Given the description of an element on the screen output the (x, y) to click on. 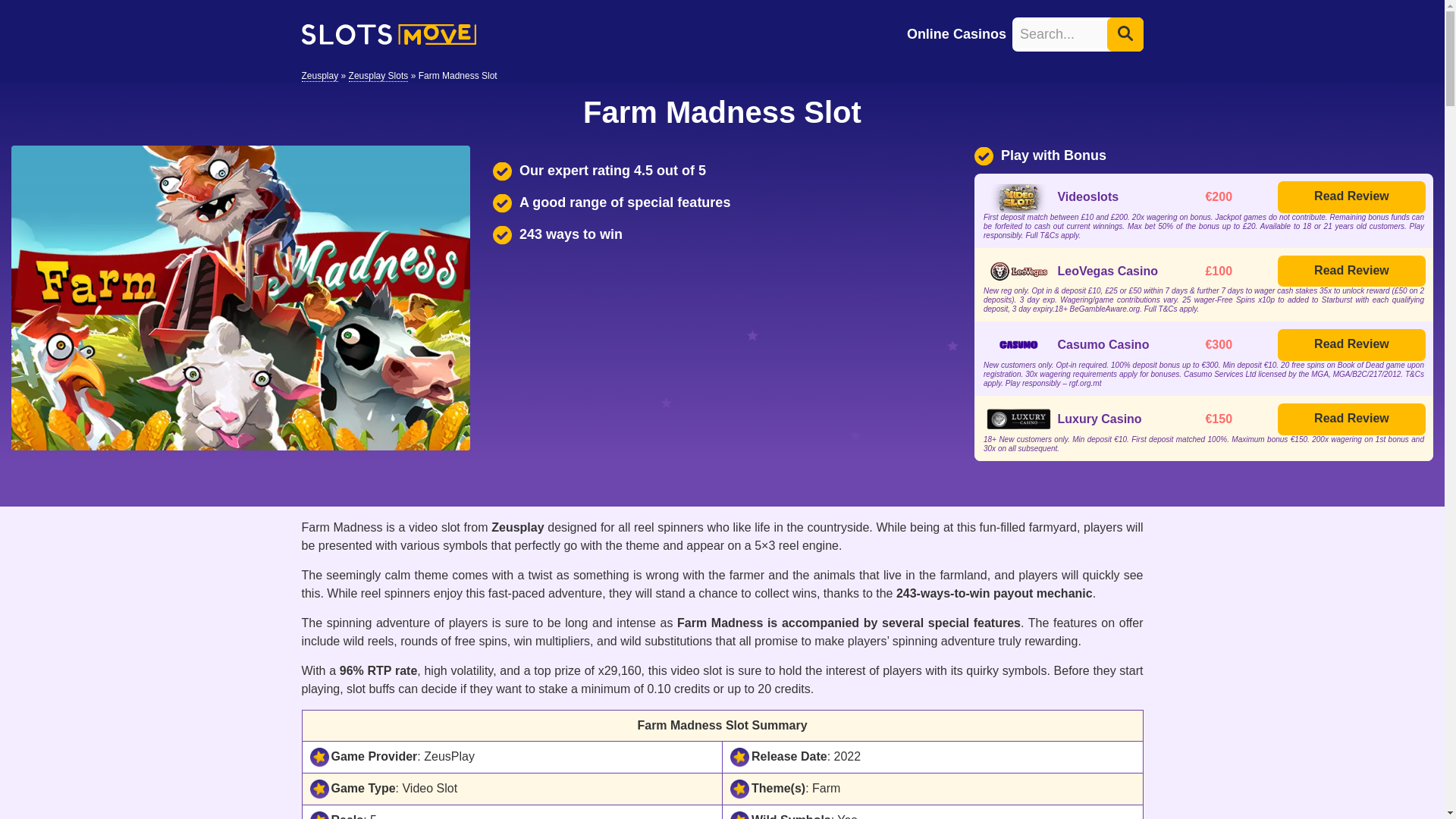
Zeusplay Slots (379, 75)
Online Casinos (956, 34)
Online Casinos (956, 34)
Search (1124, 33)
Zeusplay (320, 75)
Zeusplay Slots (379, 75)
Zeusplay (320, 75)
